Given the description of an element on the screen output the (x, y) to click on. 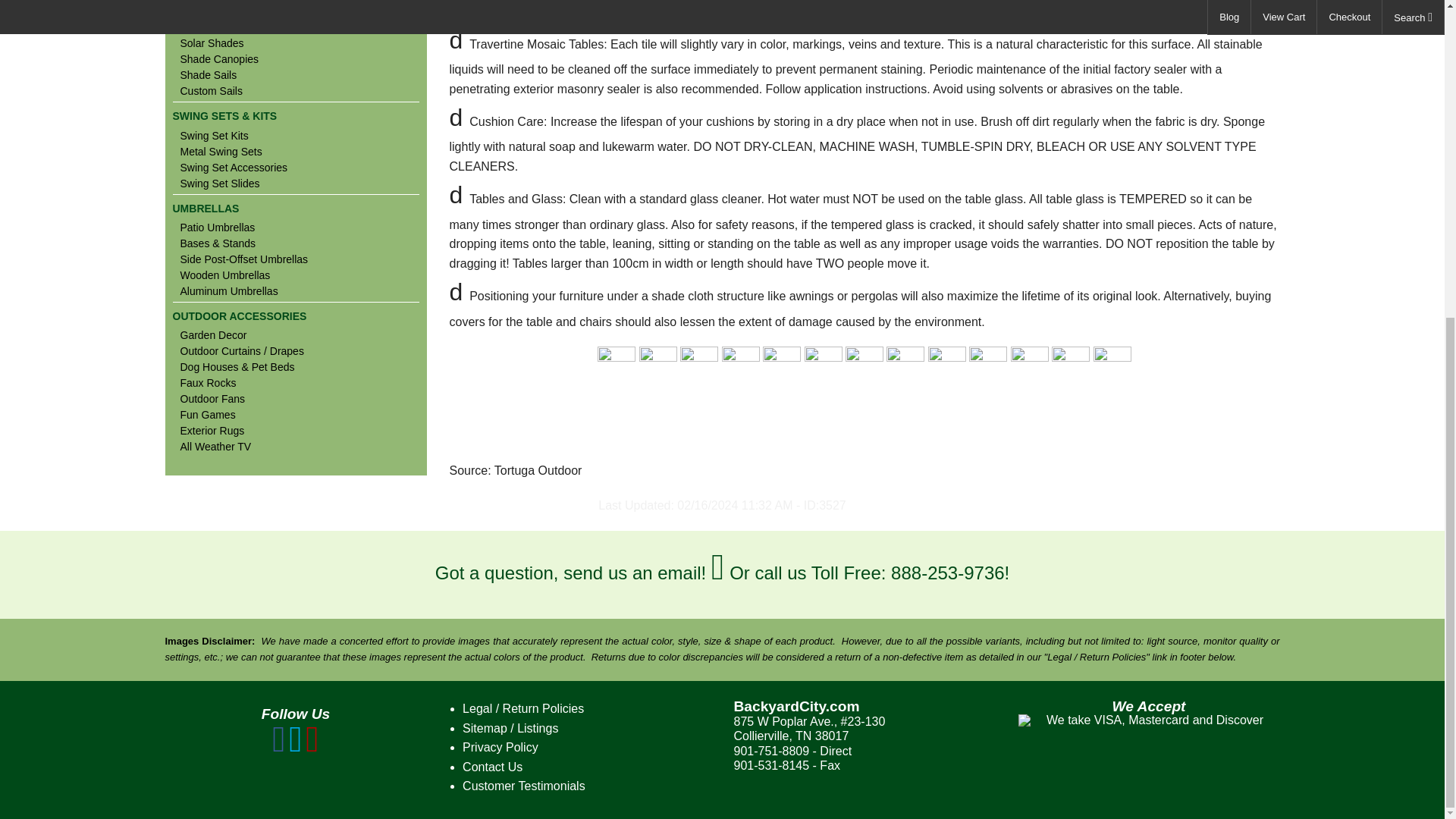
Categorized Sitemap to all Products (510, 727)
What our customers have said about us. (524, 785)
Legal, Shipping and Return Policies (523, 707)
Our Contact information with a Map (492, 766)
Follow Us on Facebook! (278, 747)
Our Privacy Policy (500, 747)
Follow Us on YouTube! (311, 747)
Follow Us on Twitter! (295, 747)
